Given the description of an element on the screen output the (x, y) to click on. 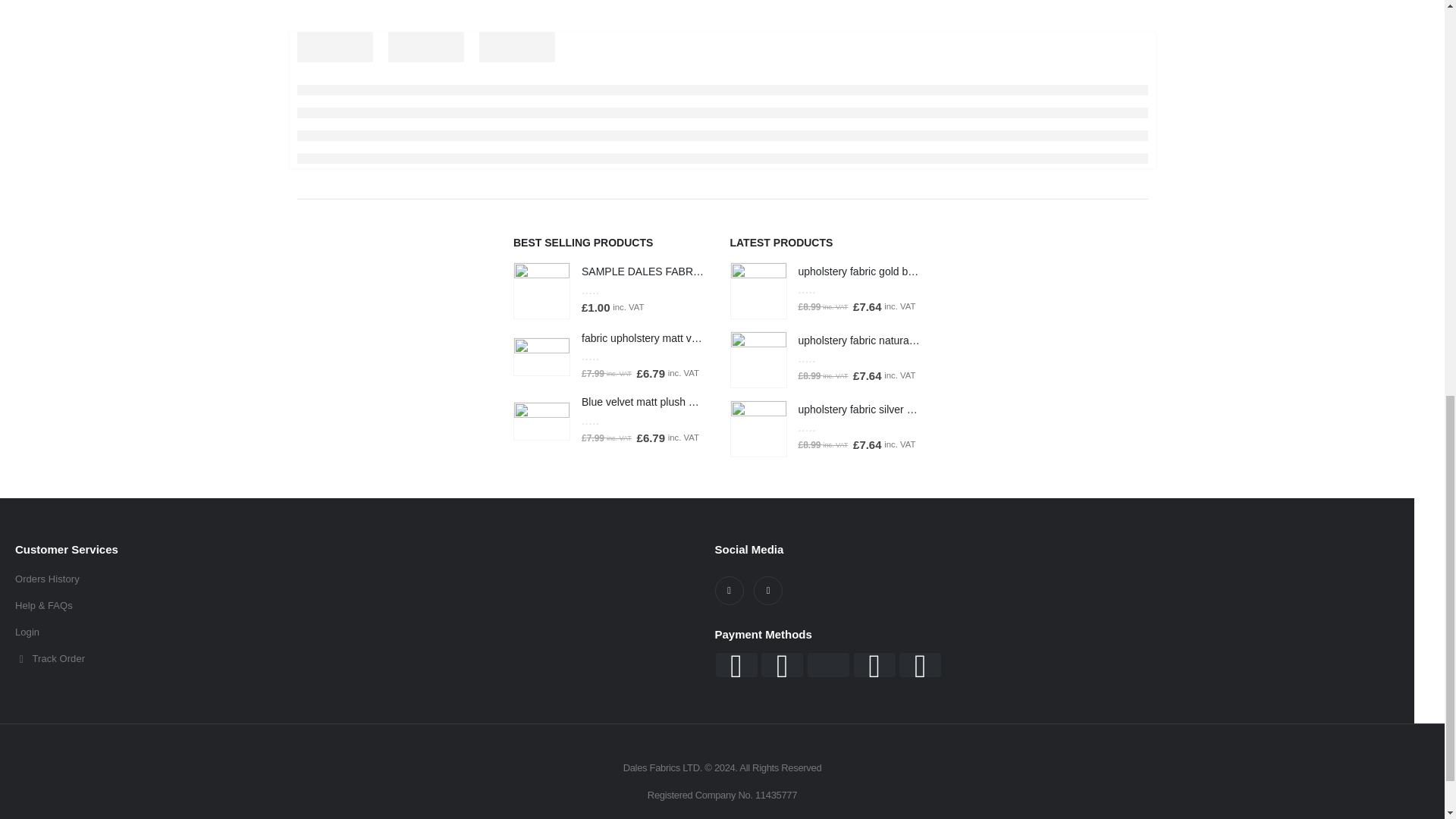
Orders History (357, 579)
Login (357, 632)
Track Order (357, 659)
0 (605, 289)
0 (605, 420)
